Given the description of an element on the screen output the (x, y) to click on. 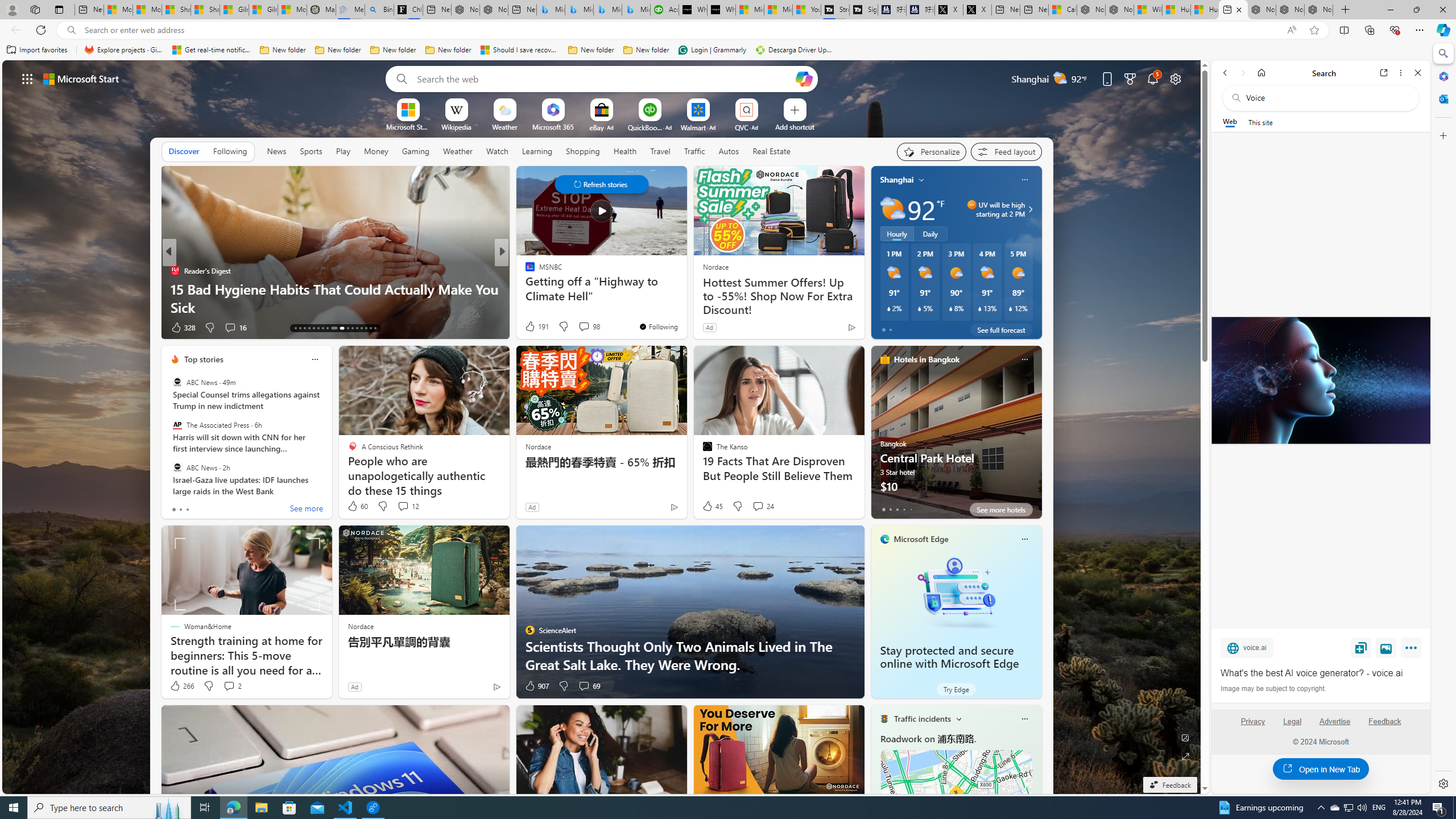
59 Like (530, 327)
Wikipedia (456, 126)
Sports (310, 151)
View comments 56 Comment (580, 327)
Learning (537, 151)
New folder (646, 49)
My location (921, 179)
Customize (1442, 135)
View comments 69 Comment (588, 685)
Huge shark washes ashore at New York City beach | Watch (1204, 9)
Descarga Driver Updater (794, 49)
